Given the description of an element on the screen output the (x, y) to click on. 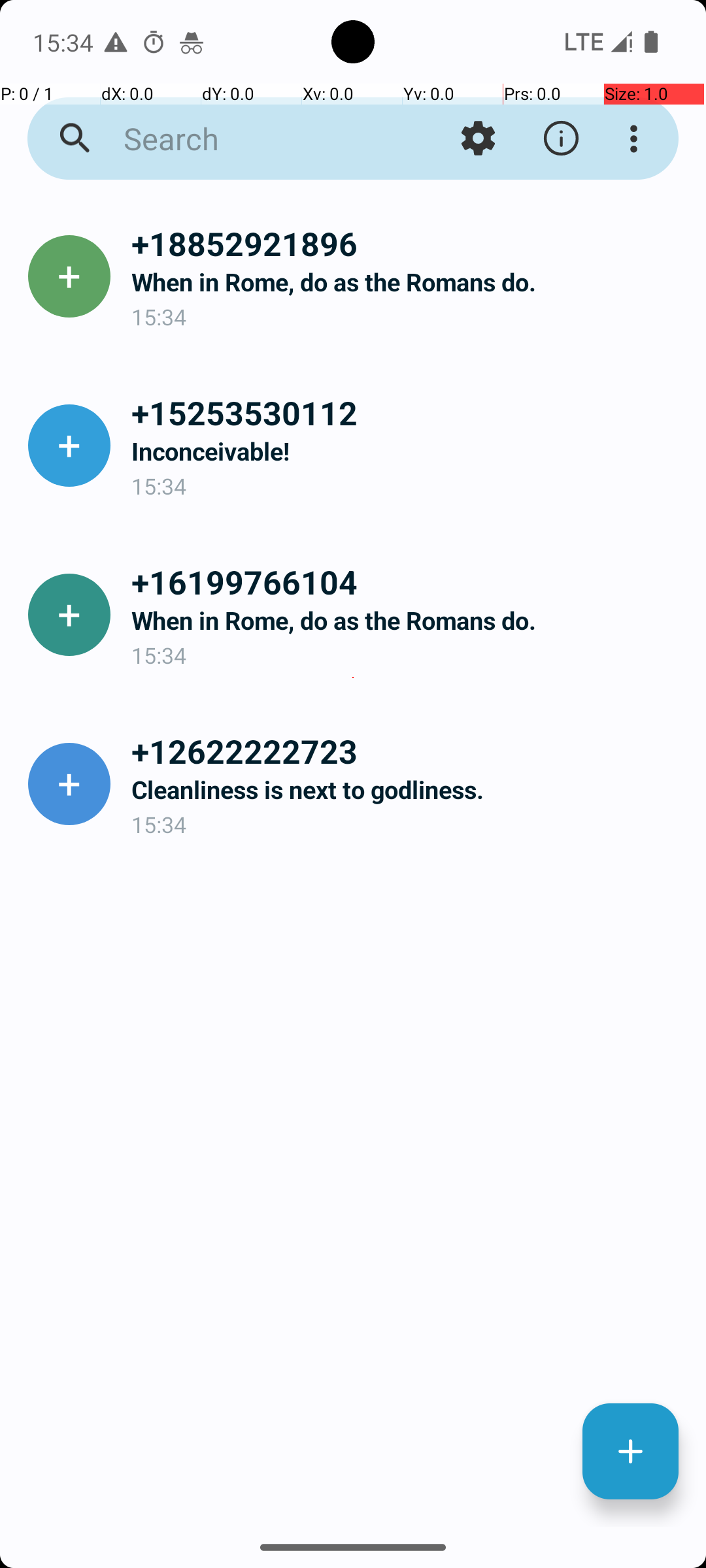
+18852921896 Element type: android.widget.TextView (408, 242)
When in Rome, do as the Romans do. Element type: android.widget.TextView (408, 281)
+15253530112 Element type: android.widget.TextView (408, 412)
Inconceivable! Element type: android.widget.TextView (408, 450)
+16199766104 Element type: android.widget.TextView (408, 581)
+12622222723 Element type: android.widget.TextView (408, 750)
Cleanliness is next to godliness. Element type: android.widget.TextView (408, 789)
